Given the description of an element on the screen output the (x, y) to click on. 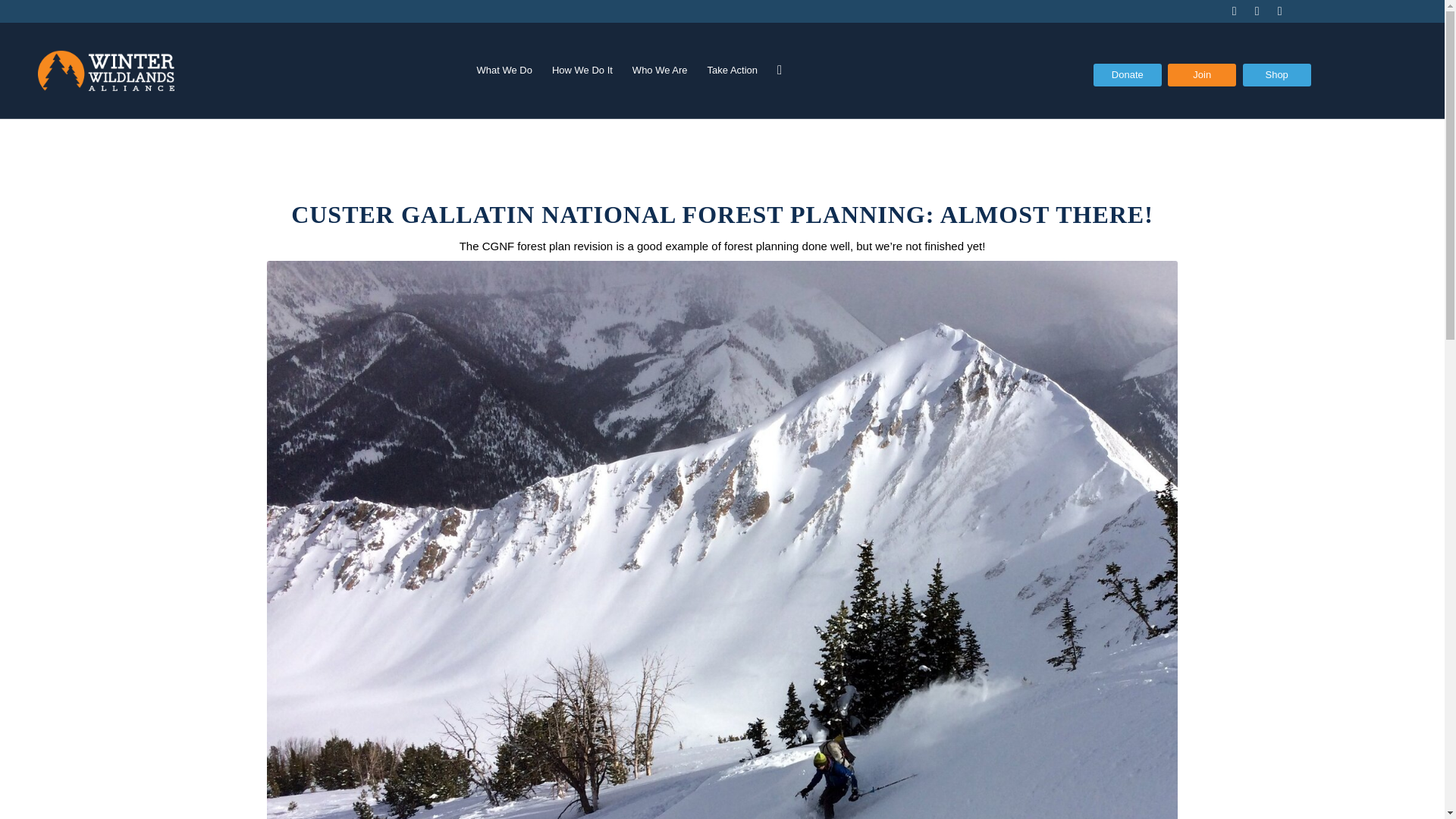
Facebook (1257, 11)
Instagram (1279, 11)
Twitter (1234, 11)
